Given the description of an element on the screen output the (x, y) to click on. 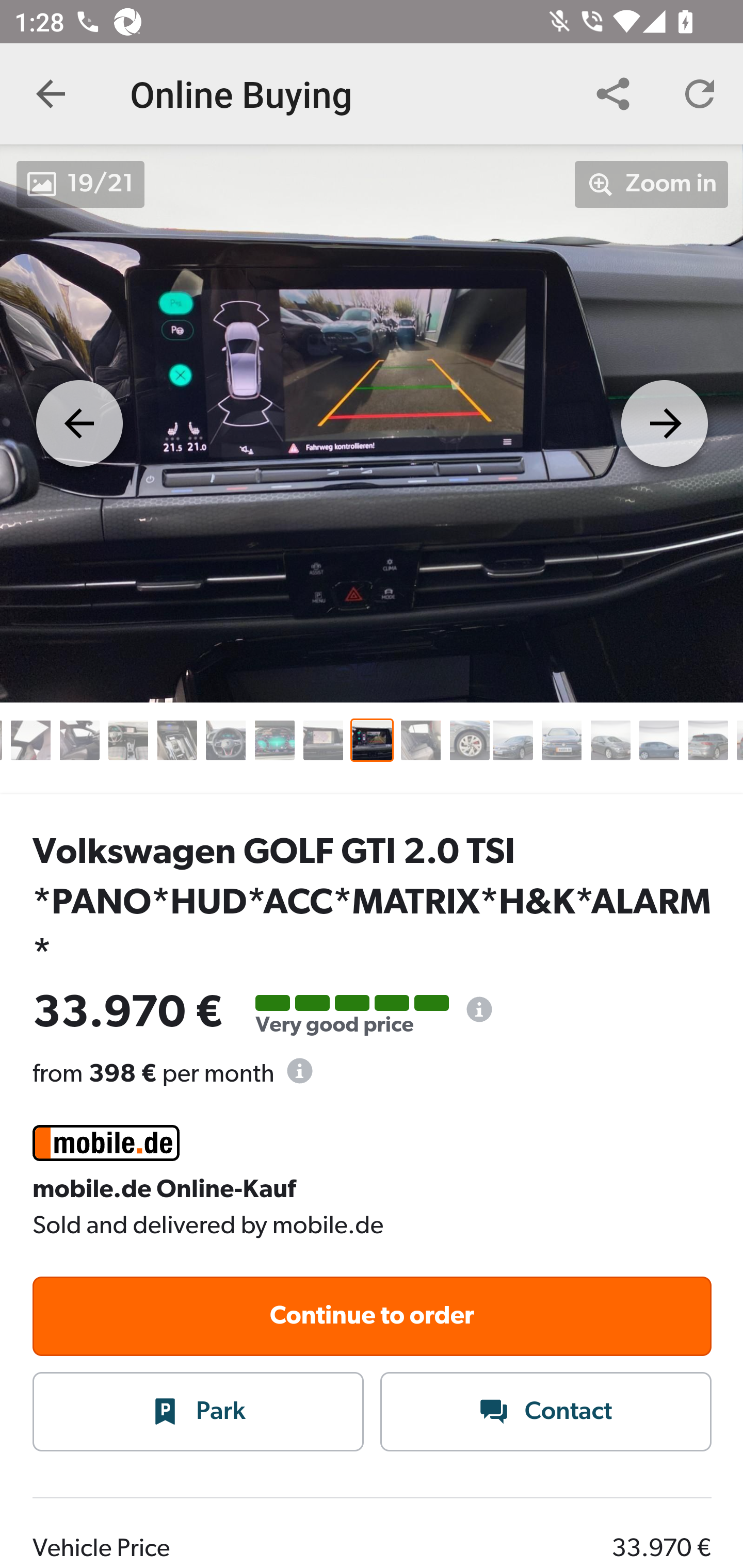
Navigate up (50, 93)
synchronize (612, 93)
synchronize (699, 93)
Zoom in (651, 184)
Park (198, 1412)
Contact (545, 1412)
